Given the description of an element on the screen output the (x, y) to click on. 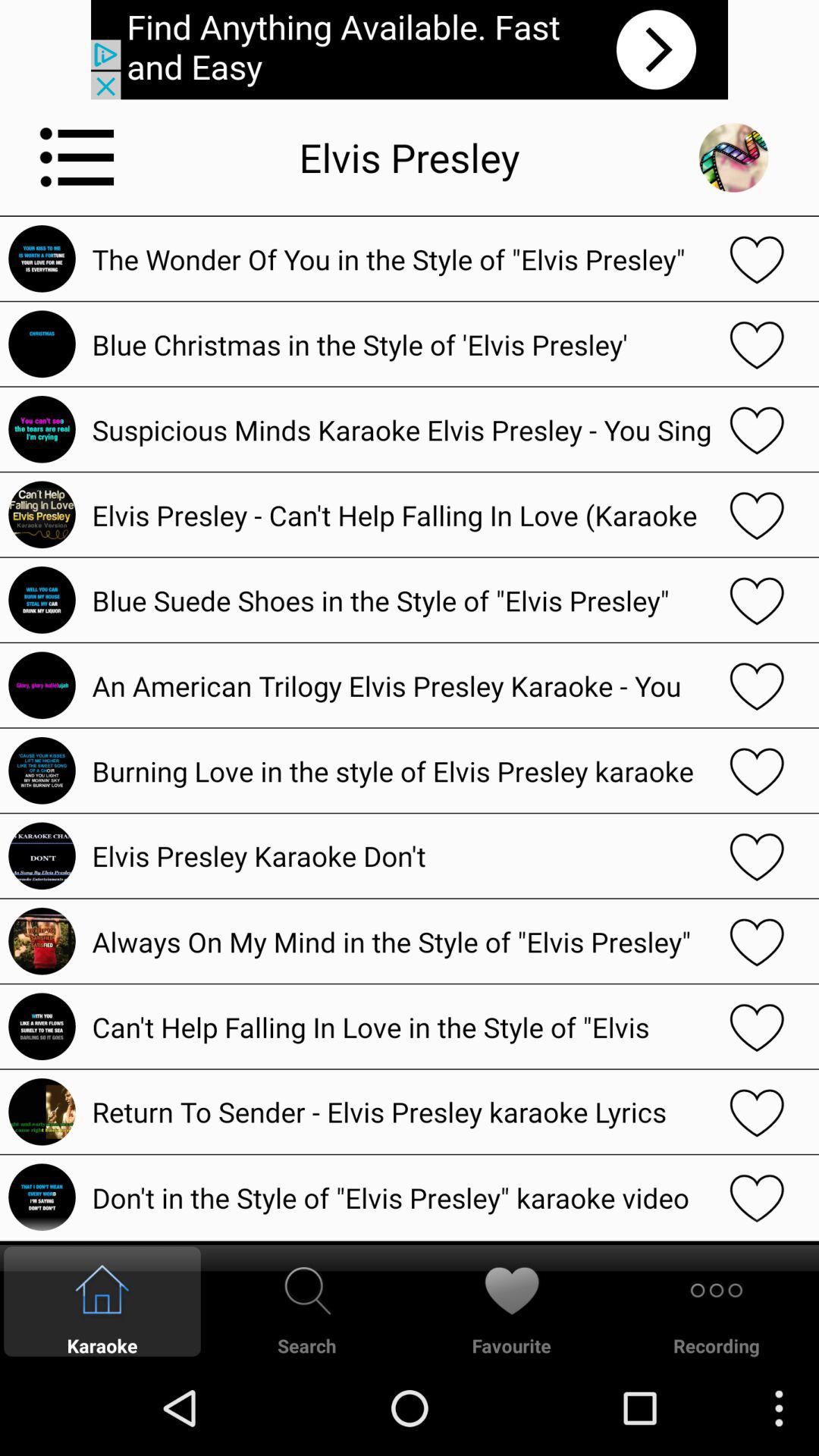
like option (756, 1026)
